Given the description of an element on the screen output the (x, y) to click on. 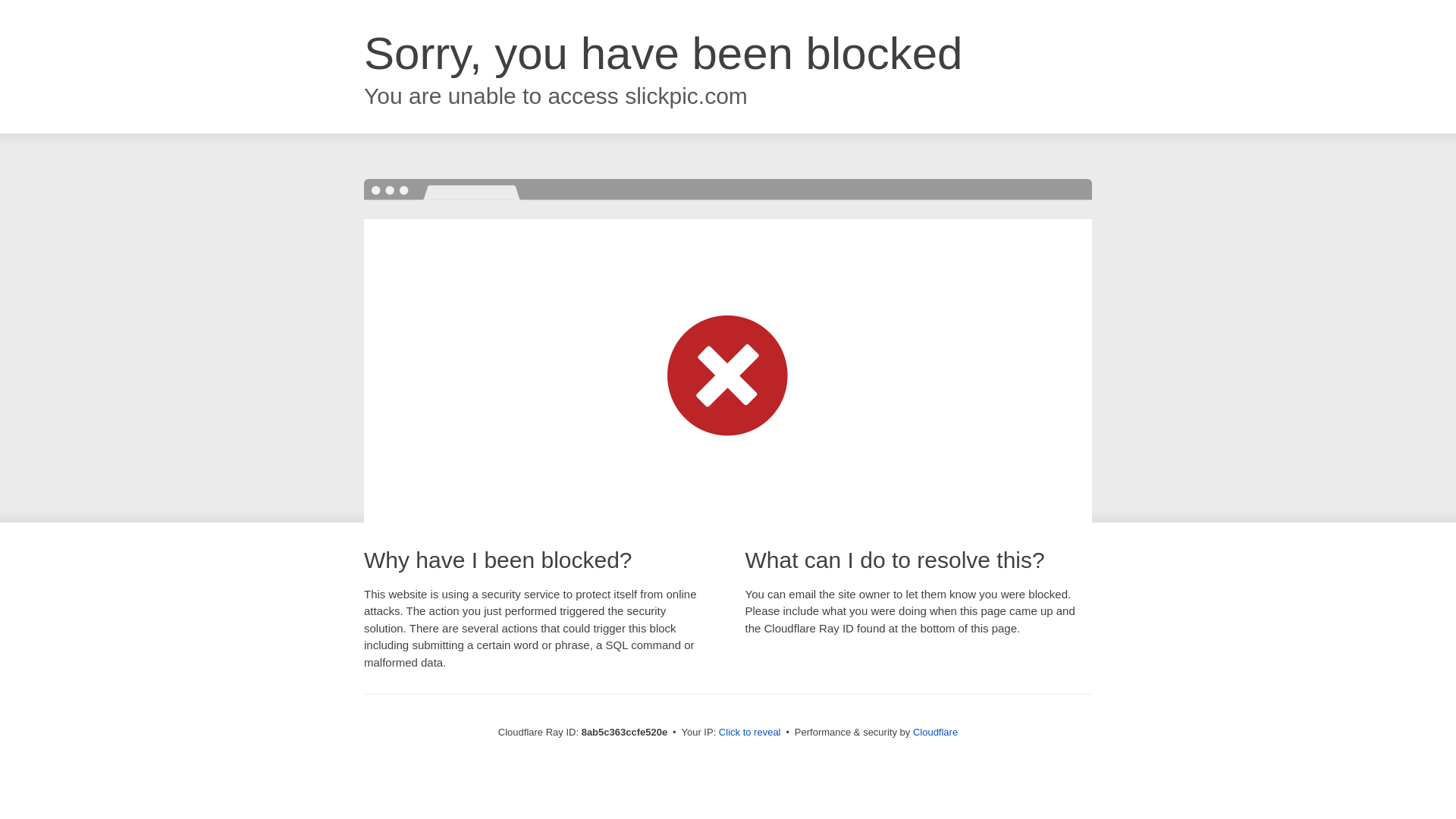
Cloudflare (935, 731)
Click to reveal (749, 732)
